Given the description of an element on the screen output the (x, y) to click on. 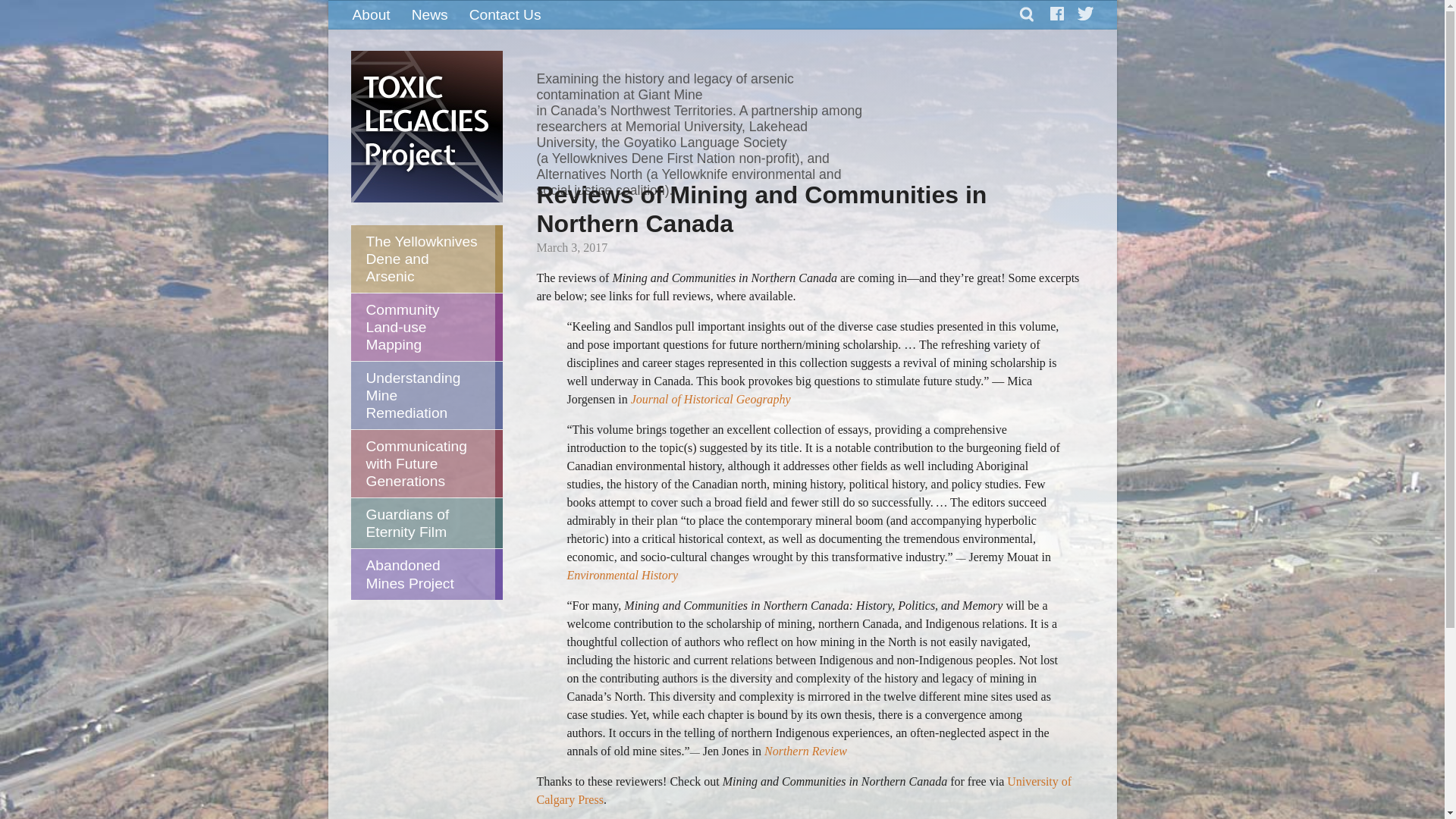
About (370, 14)
Abandoned Mines Project (422, 573)
Community Land-use Mapping (422, 327)
Understanding Mine Remediation (422, 395)
Journal of Historical Geography (708, 399)
Environmental History (622, 574)
Guardians of Eternity Film (422, 522)
The Yellowknives Dene and Arsenic (422, 258)
Communicating with Future Generations (422, 463)
Northern Review (805, 750)
News (430, 14)
Contact Us (505, 14)
University of Calgary Press (803, 789)
